Given the description of an element on the screen output the (x, y) to click on. 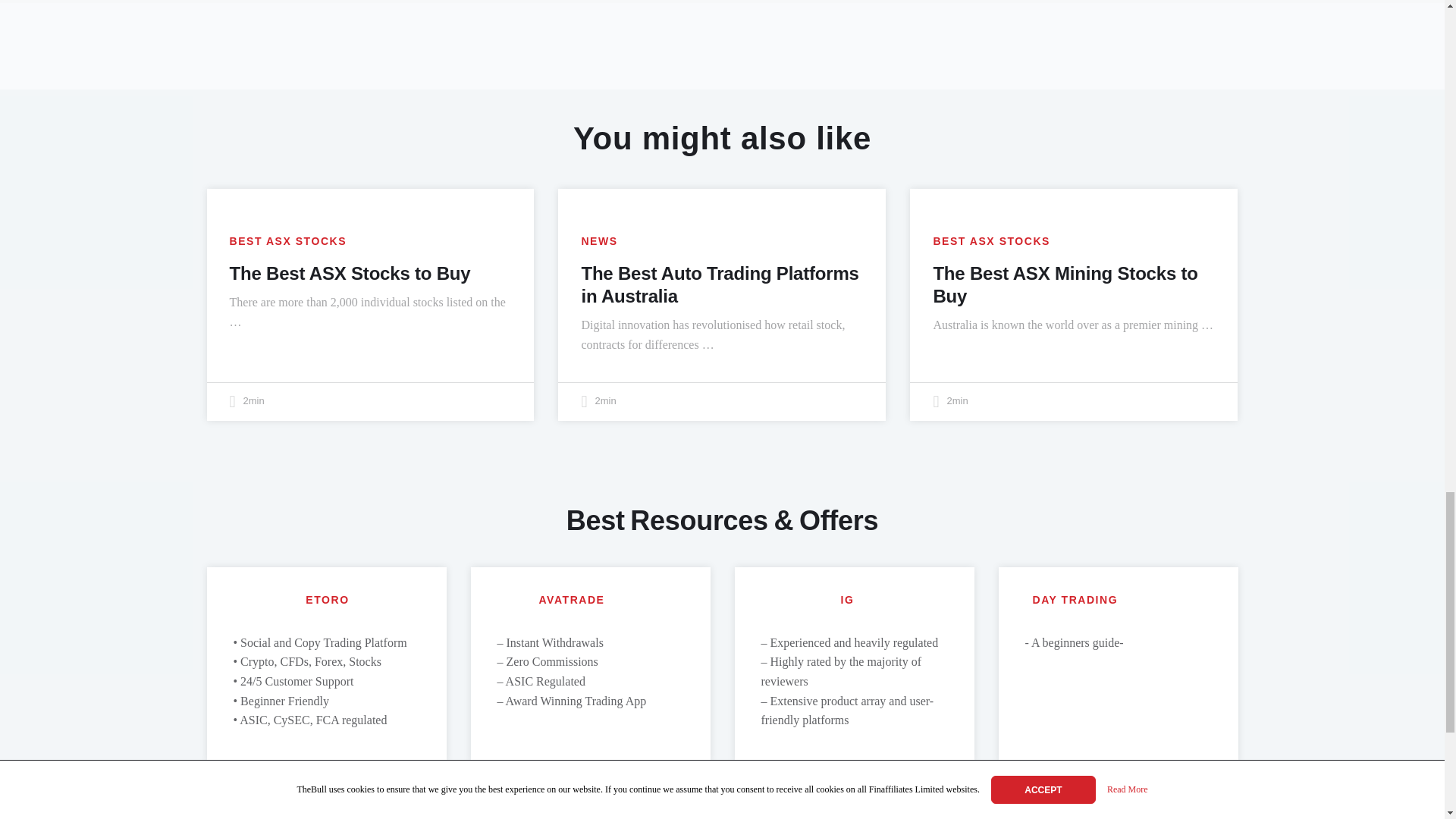
BEST ASX STOCKS (991, 241)
The Best ASX Stocks to Buy (349, 272)
BEST ASX STOCKS (287, 241)
The Best Auto Trading Platforms in Australia (719, 284)
NEWS (598, 241)
